Given the description of an element on the screen output the (x, y) to click on. 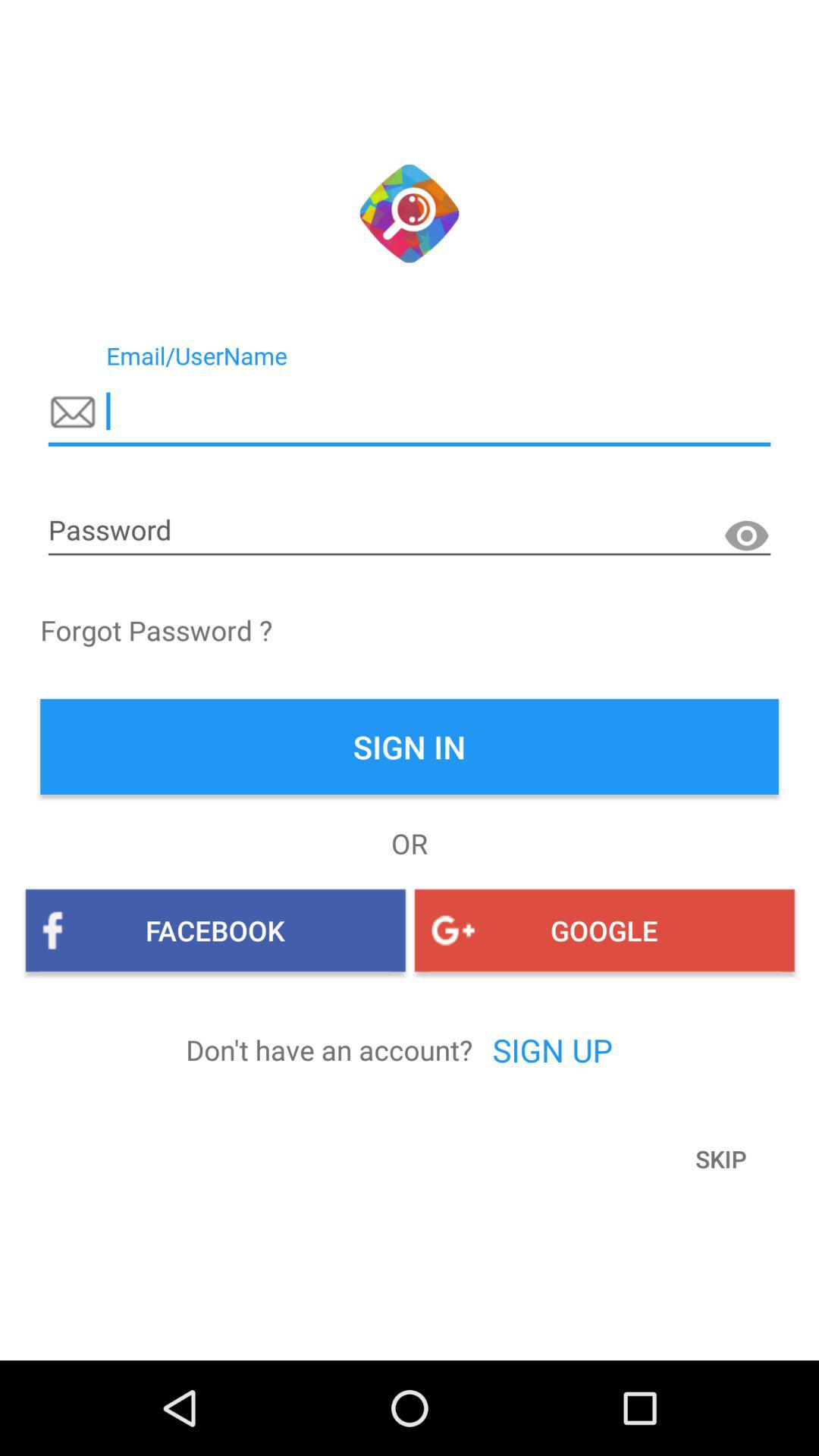
enter email (409, 412)
